Given the description of an element on the screen output the (x, y) to click on. 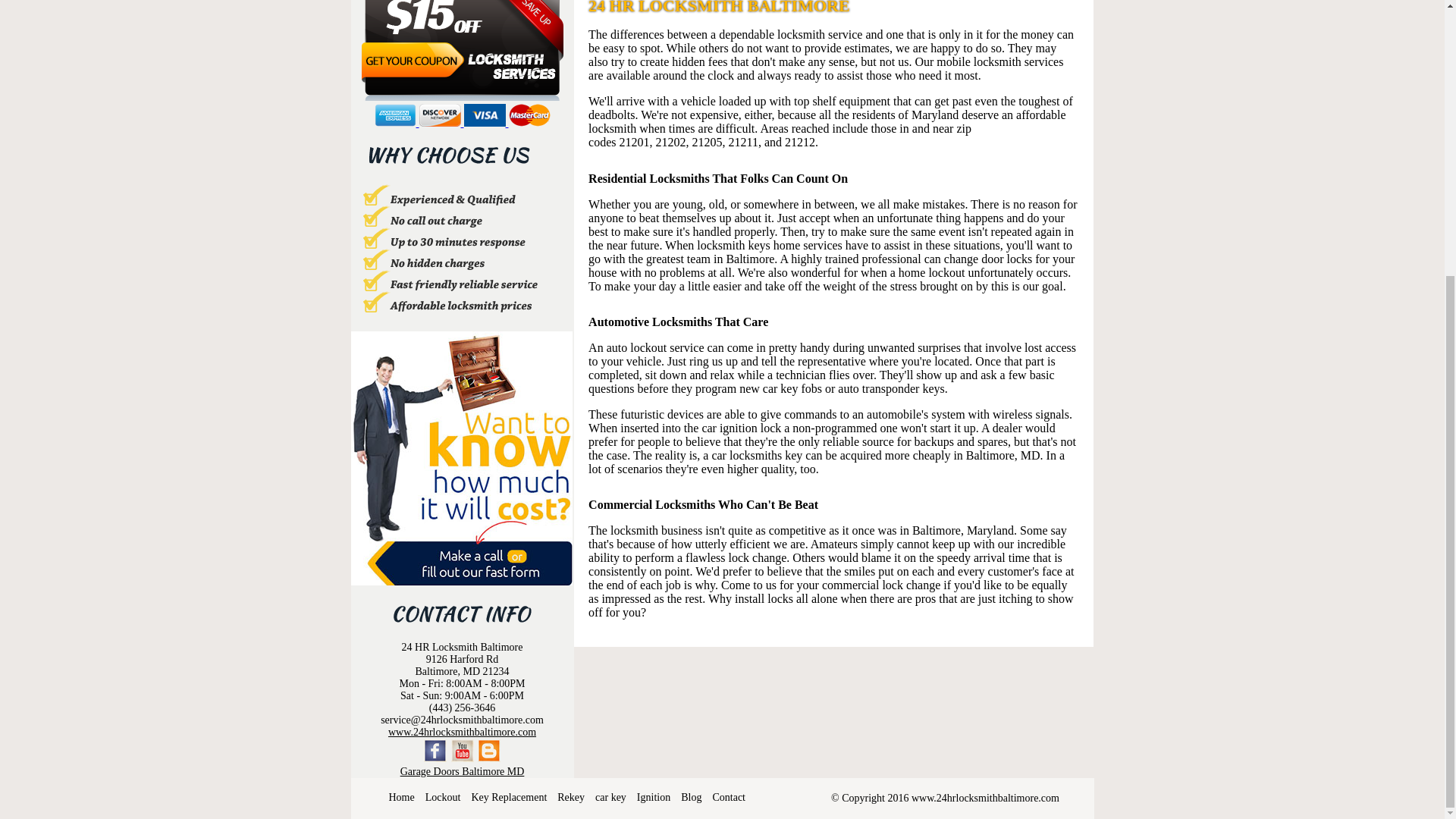
www.24hrlocksmithbaltimore.com (461, 731)
Home (400, 797)
Rekey (571, 797)
car key (610, 797)
Contact (728, 797)
Garage Doors Baltimore MD (462, 771)
Blog (691, 797)
Lockout (443, 797)
Key Replacement (508, 797)
Ignition (653, 797)
